Given the description of an element on the screen output the (x, y) to click on. 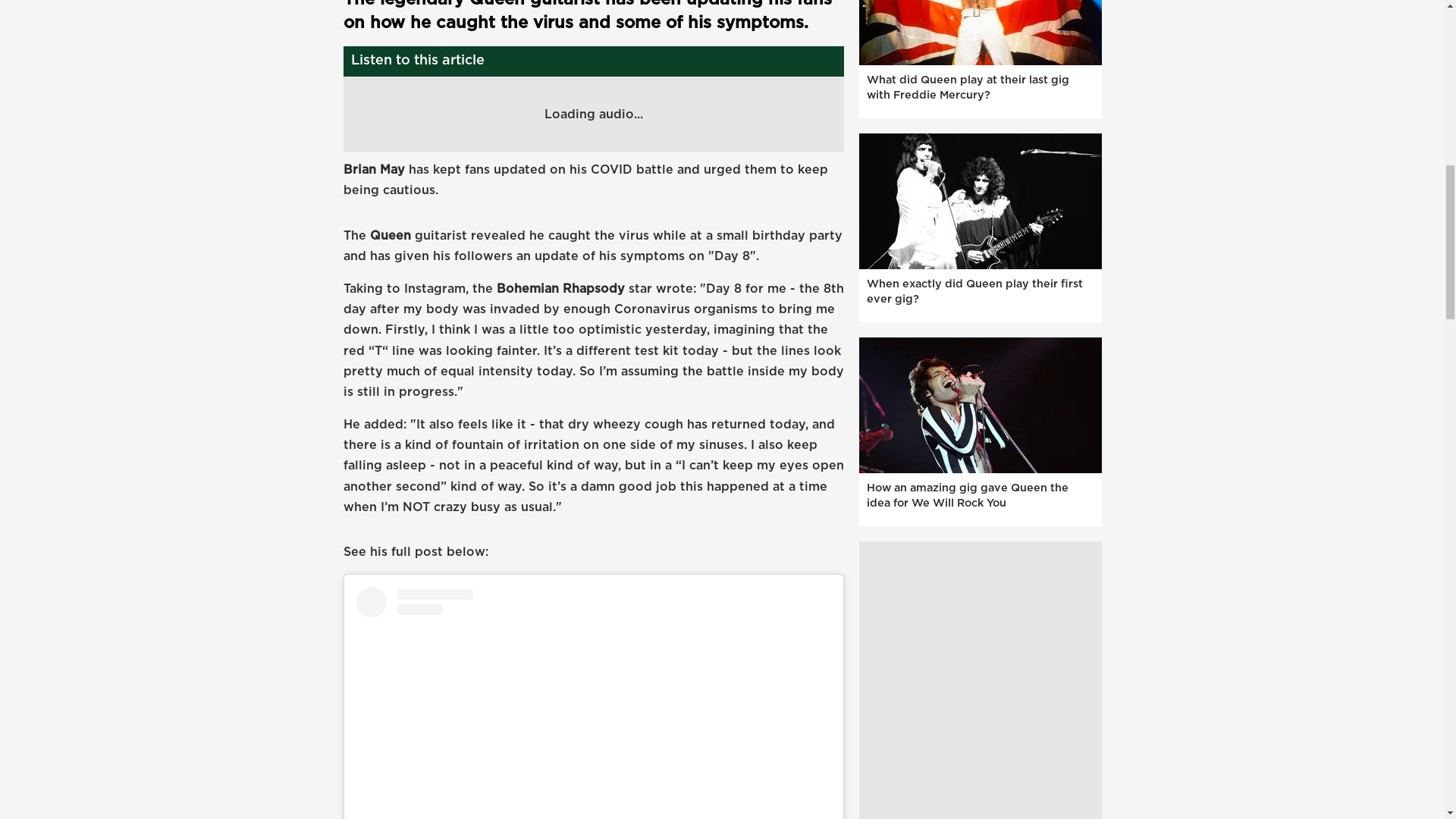
View this post on Instagram (593, 703)
